Given the description of an element on the screen output the (x, y) to click on. 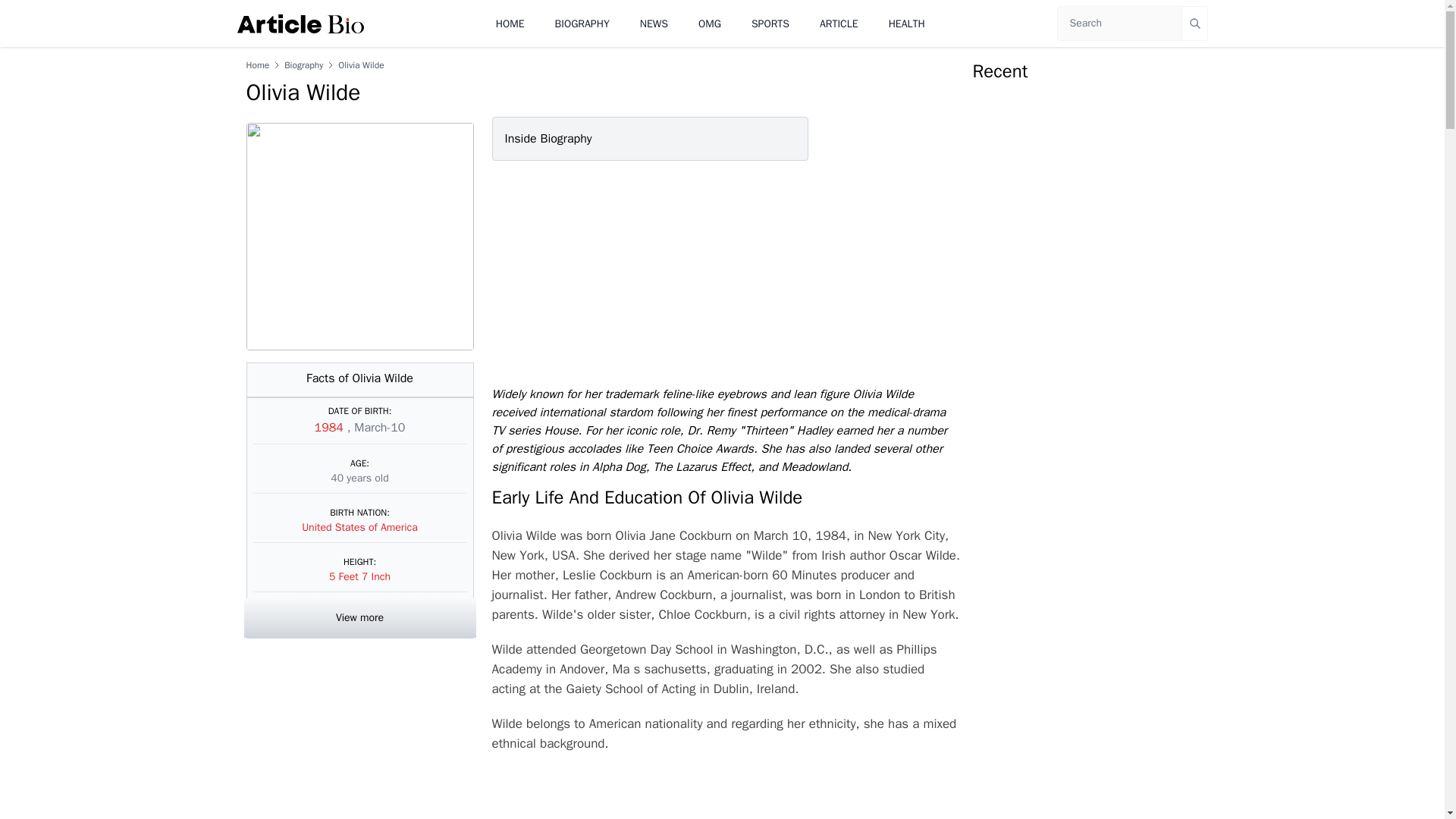
BIOGRAPHY (582, 23)
United States of America (359, 526)
HOME (510, 23)
Home (257, 64)
SPORTS (770, 23)
1984 (330, 427)
NEWS (654, 23)
Advertisement (721, 273)
March-10 (378, 427)
Biography (303, 64)
ARTICLE (839, 23)
5 Feet 7 Inch (359, 576)
Advertisement (725, 794)
HEALTH (906, 23)
OMG (709, 23)
